Given the description of an element on the screen output the (x, y) to click on. 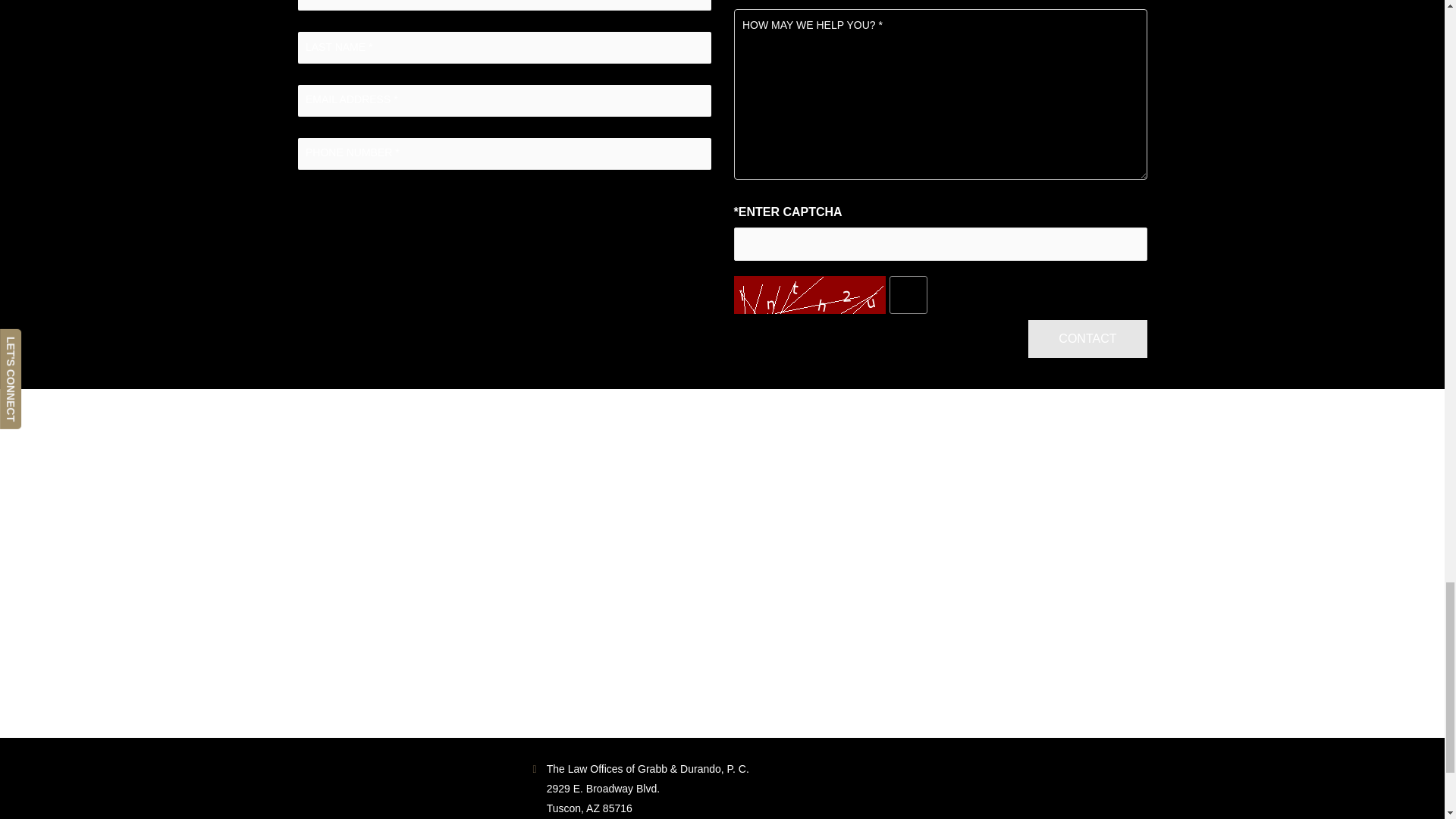
CONTACT (1087, 338)
